Given the description of an element on the screen output the (x, y) to click on. 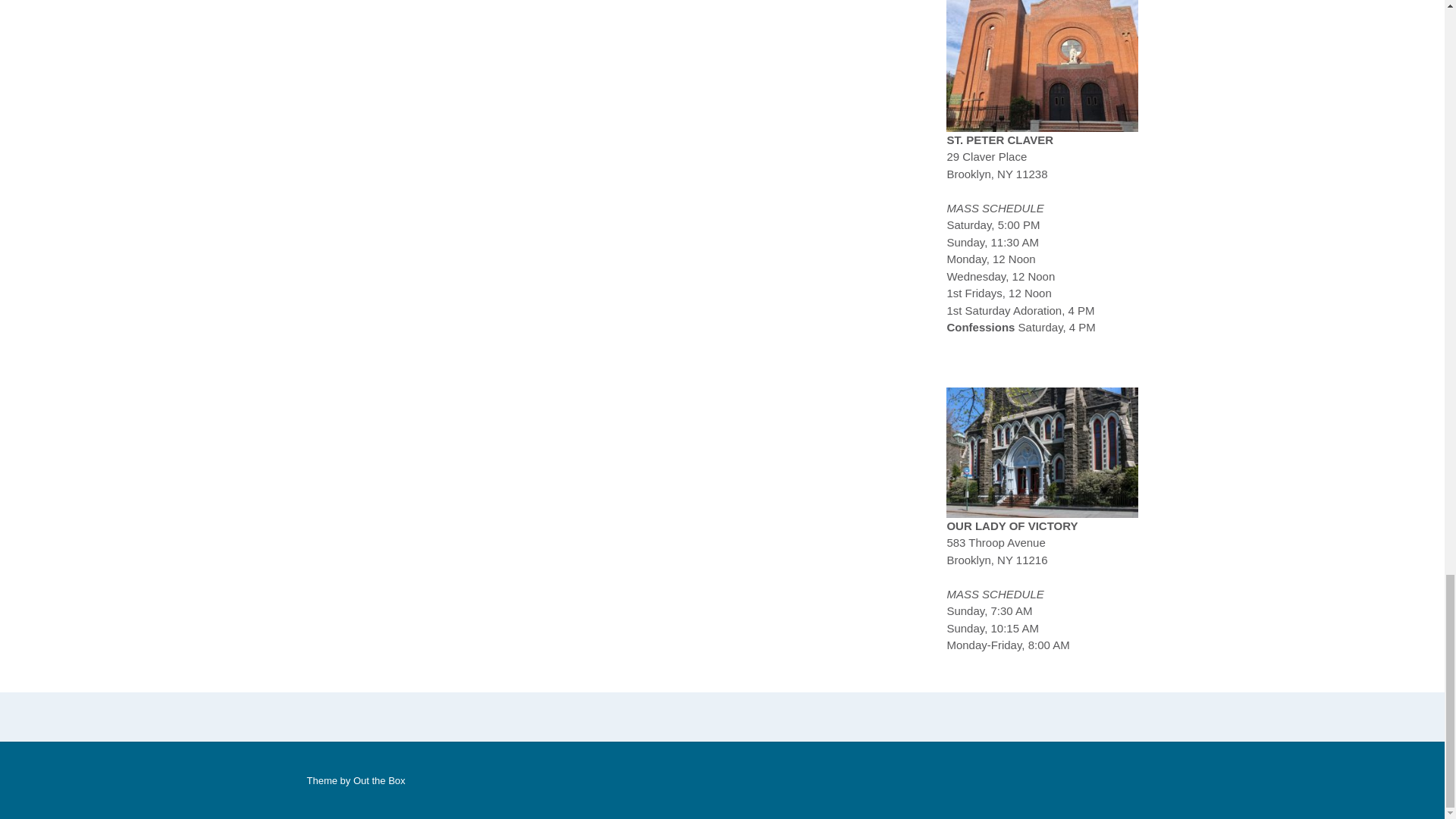
Out the Box (379, 780)
